Given the description of an element on the screen output the (x, y) to click on. 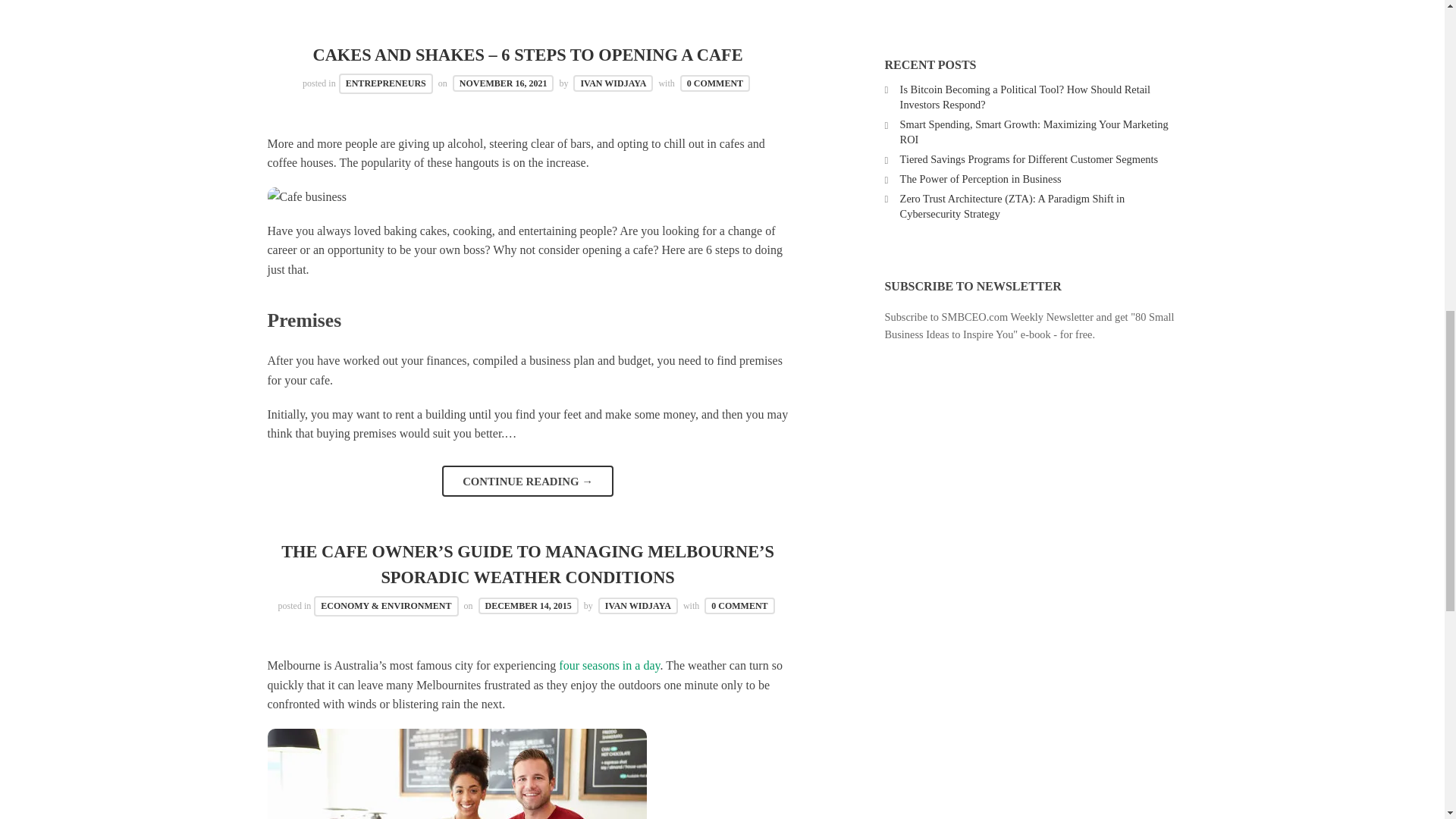
0 COMMENT (739, 605)
0 COMMENT (714, 83)
View all posts by Ivan Widjaya (638, 605)
ENTREPRENEURS (385, 83)
IVAN WIDJAYA (612, 83)
6:06 am (503, 83)
IVAN WIDJAYA (638, 605)
DECEMBER 14, 2015 (527, 605)
four seasons in a day (609, 665)
NOVEMBER 16, 2021 (503, 83)
View all posts by Ivan Widjaya (612, 83)
5:08 am (527, 605)
